Given the description of an element on the screen output the (x, y) to click on. 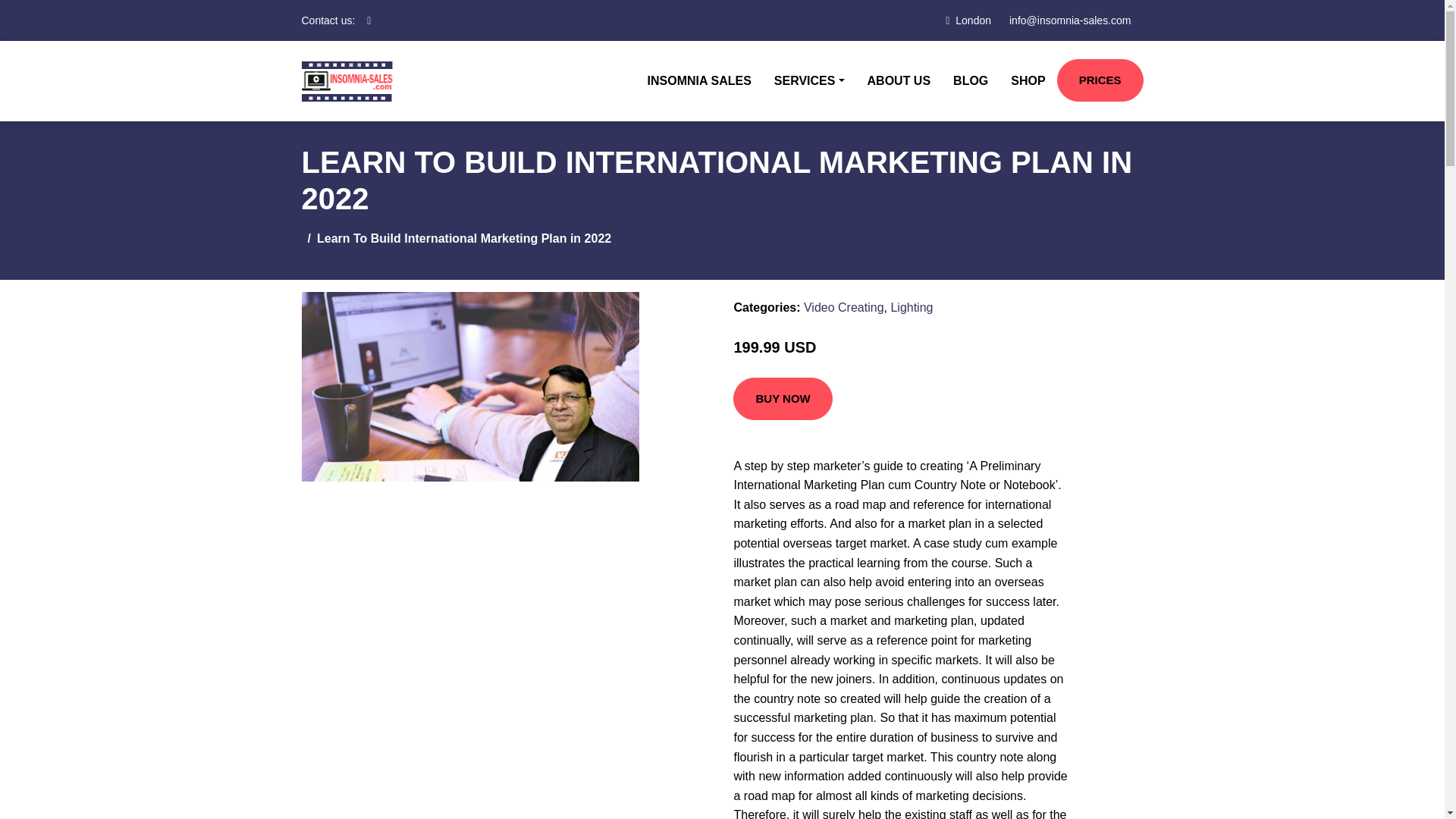
ABOUT US (899, 80)
INSOMNIA SALES (699, 80)
Video Creating (843, 307)
BUY NOW (782, 398)
PRICES (1099, 79)
Lighting (911, 307)
SERVICES (809, 80)
London (973, 20)
